Given the description of an element on the screen output the (x, y) to click on. 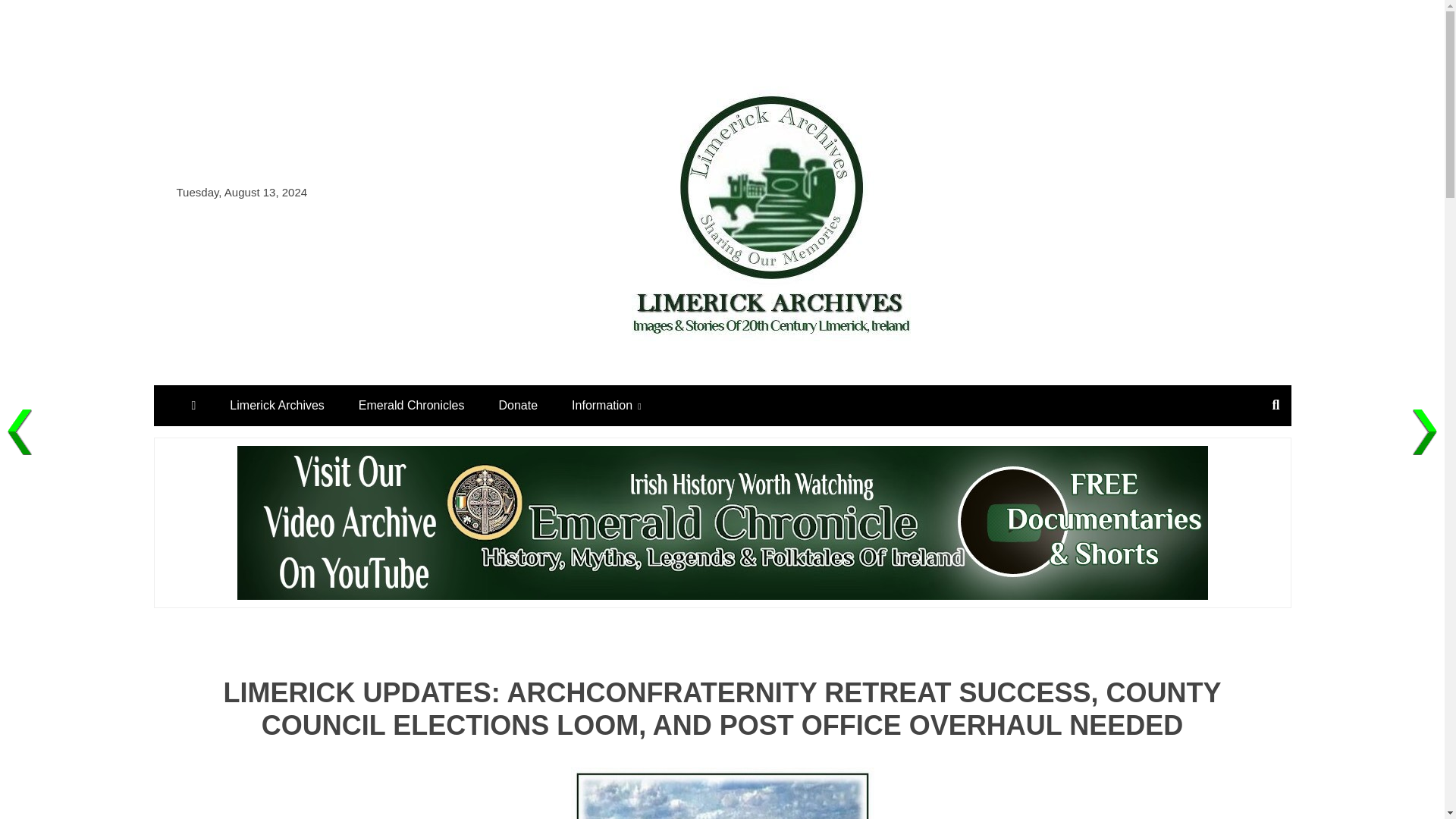
Donate (518, 404)
Information (606, 404)
Limerick Archives (754, 368)
Emerald Chronicles (411, 404)
Limerick Archives (276, 404)
